Given the description of an element on the screen output the (x, y) to click on. 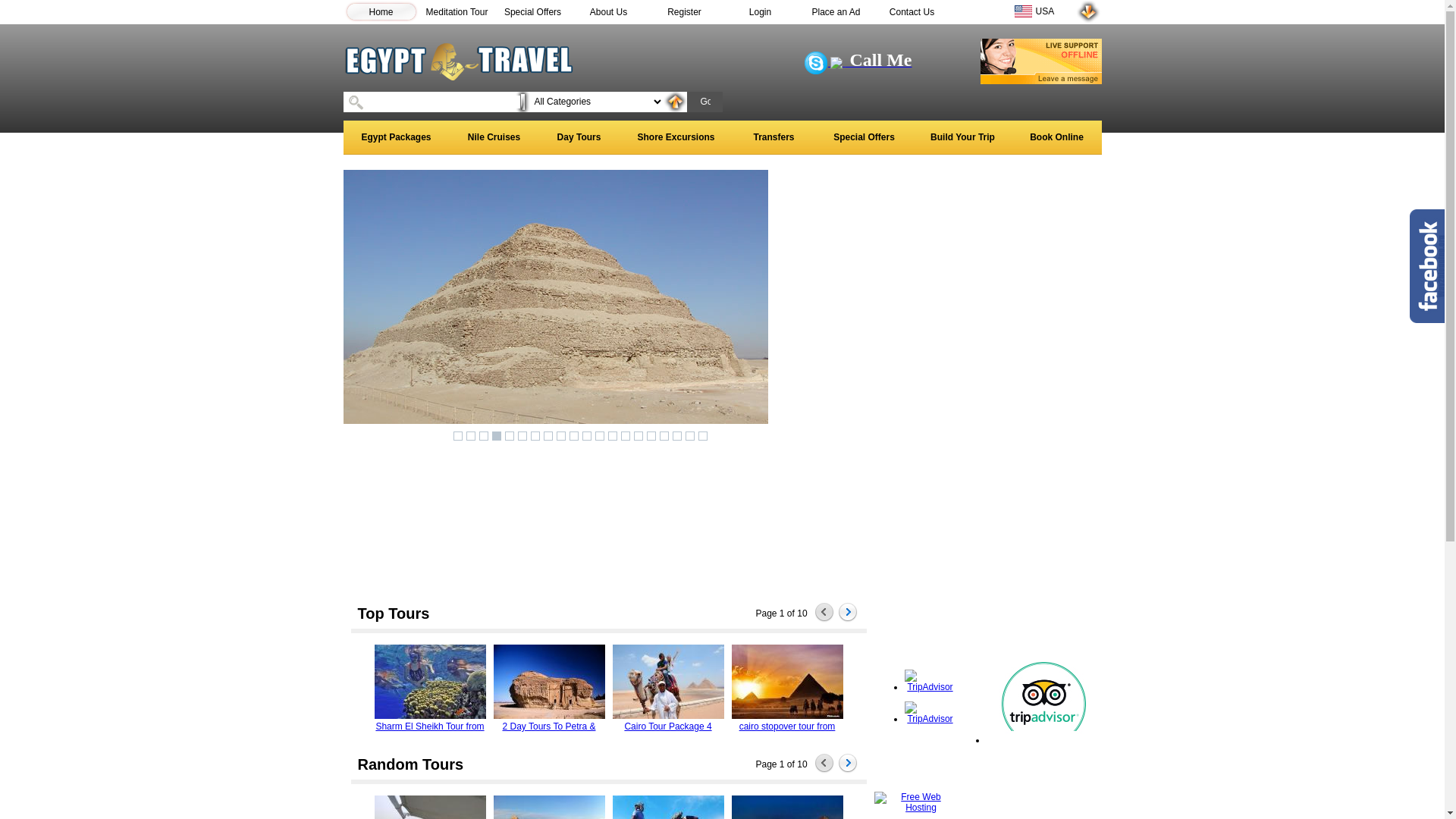
Login Element type: text (760, 11)
Meditation Tour Element type: text (457, 11)
7 Element type: text (534, 435)
Place an Ad Element type: text (835, 11)
Nile Cruises Element type: text (493, 137)
3 Element type: text (483, 435)
9 Element type: text (560, 435)
12 Element type: text (599, 435)
17 Element type: text (663, 435)
14 Element type: text (625, 435)
2 Element type: text (470, 435)
4 Element type: text (496, 435)
18 Element type: text (676, 435)
Transfers Element type: text (773, 137)
15 Element type: text (638, 435)
1 Element type: text (457, 435)
19 Element type: text (689, 435)
20 Element type: text (702, 435)
8 Element type: text (547, 435)
6 Element type: text (522, 435)
Sharm El Sheikh Tour from Cairo by Flight Element type: text (429, 681)
Free Web Hosting Element type: hover (914, 801)
11 Element type: text (586, 435)
cairo stopover tour from cairo airport Element type: text (787, 681)
   Call Me Element type: text (857, 62)
Contact Us Element type: text (911, 11)
Special Offers Element type: text (532, 11)
Cairo Tour Package 4 Days, 3 Nights Element type: text (667, 681)
Build Your Trip Element type: text (962, 137)
13 Element type: text (612, 435)
16 Element type: text (650, 435)
Special Offers Element type: text (863, 137)
10 Element type: text (573, 435)
About Us Element type: text (608, 11)
Register Element type: text (684, 11)
Egypt Packages Element type: text (395, 137)
5 Element type: text (509, 435)
Book Online Element type: text (1056, 137)
Basic Search Element type: hover (675, 100)
Go Element type: text (702, 101)
Day Tours Element type: text (578, 137)
2 Day Tours To Petra & Wadi Rum from Sharm Element type: text (548, 681)
Shore Excursions Element type: text (675, 137)
